Given the description of an element on the screen output the (x, y) to click on. 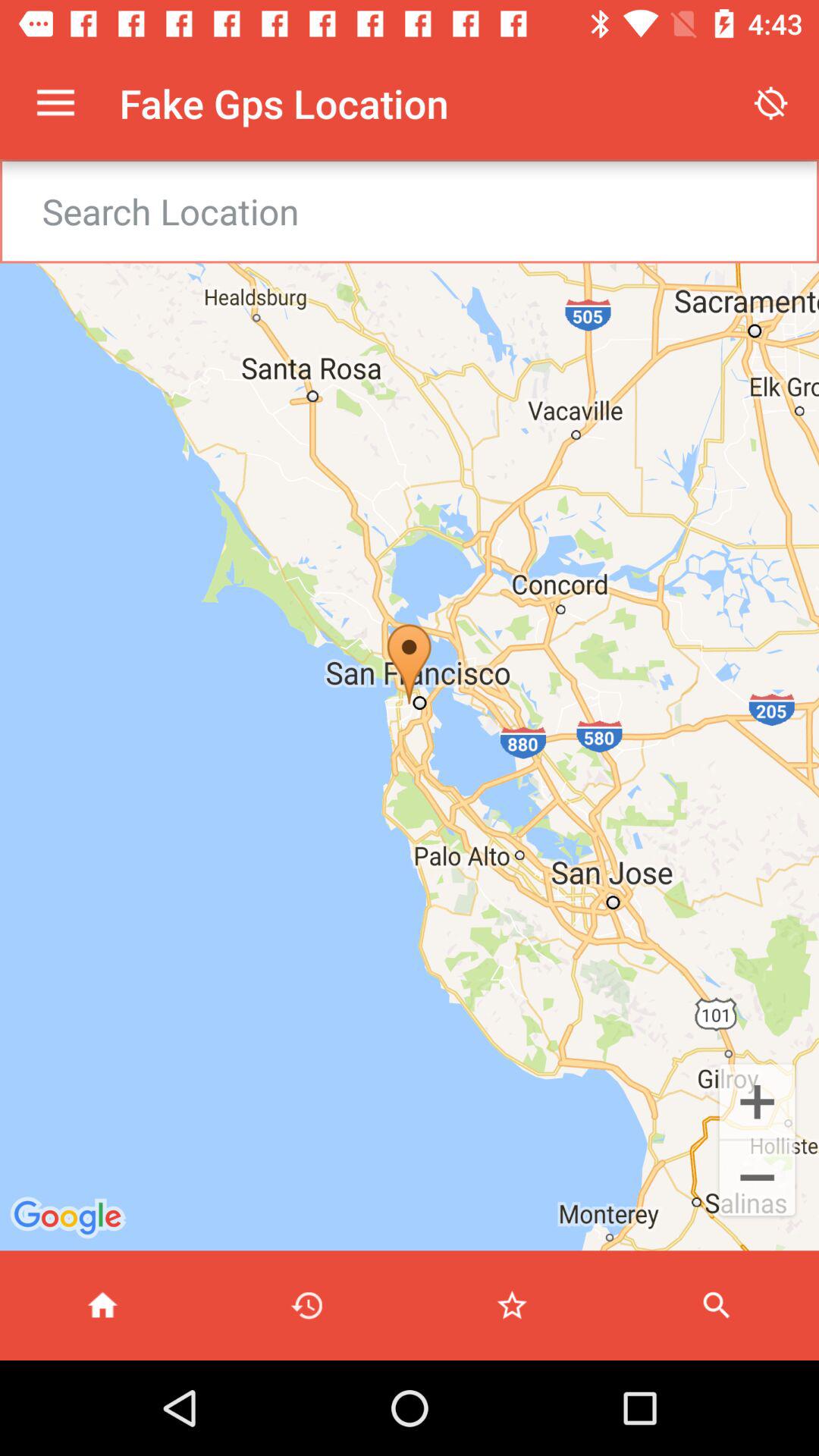
click app to the left of fake gps location (55, 103)
